Given the description of an element on the screen output the (x, y) to click on. 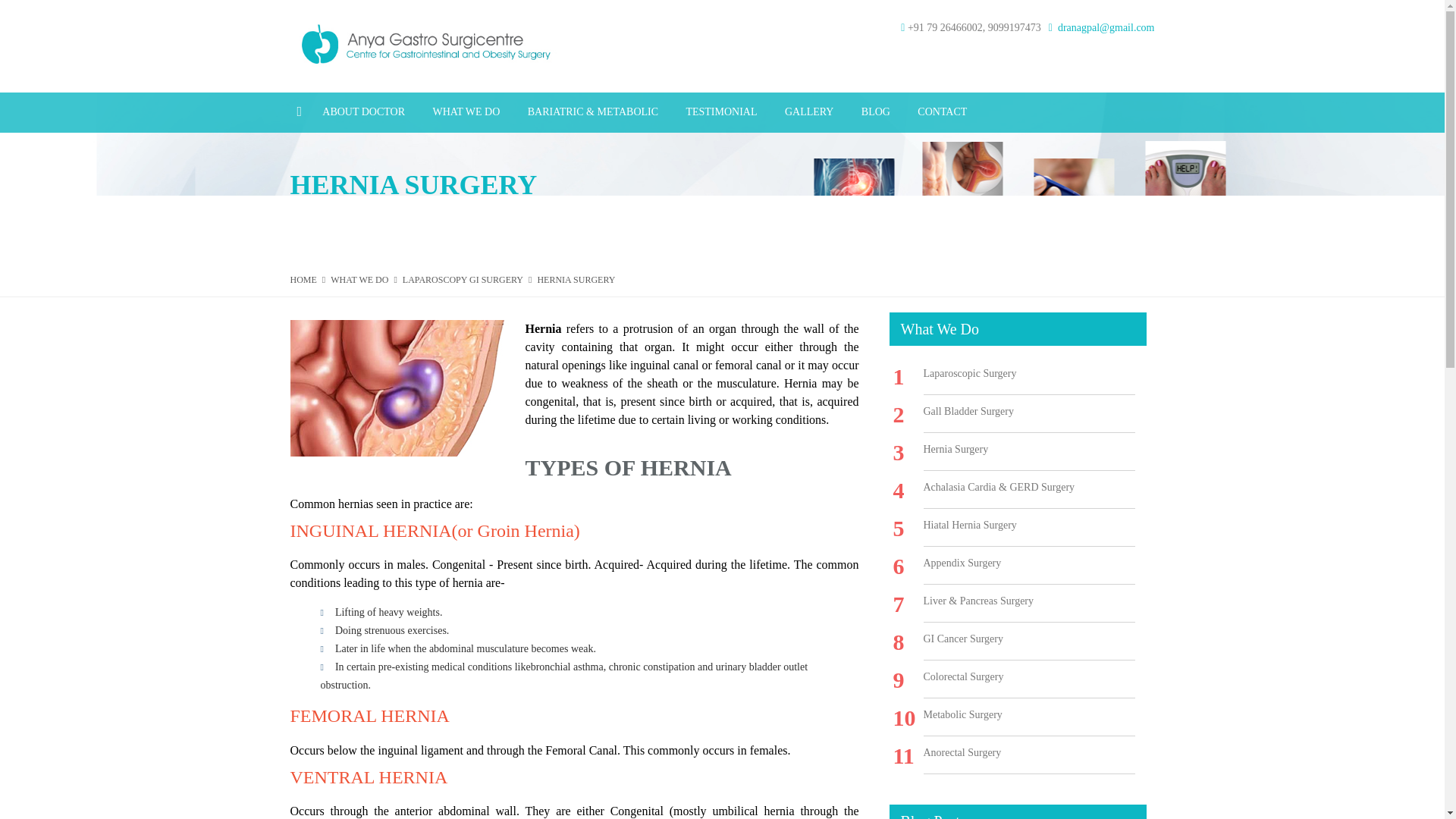
BLOG (875, 112)
WHAT WE DO (466, 112)
TESTIMONIAL (720, 112)
CONTACT (941, 112)
GALLERY (809, 112)
ABOUT DOCTOR (363, 112)
HOME (302, 279)
